Given the description of an element on the screen output the (x, y) to click on. 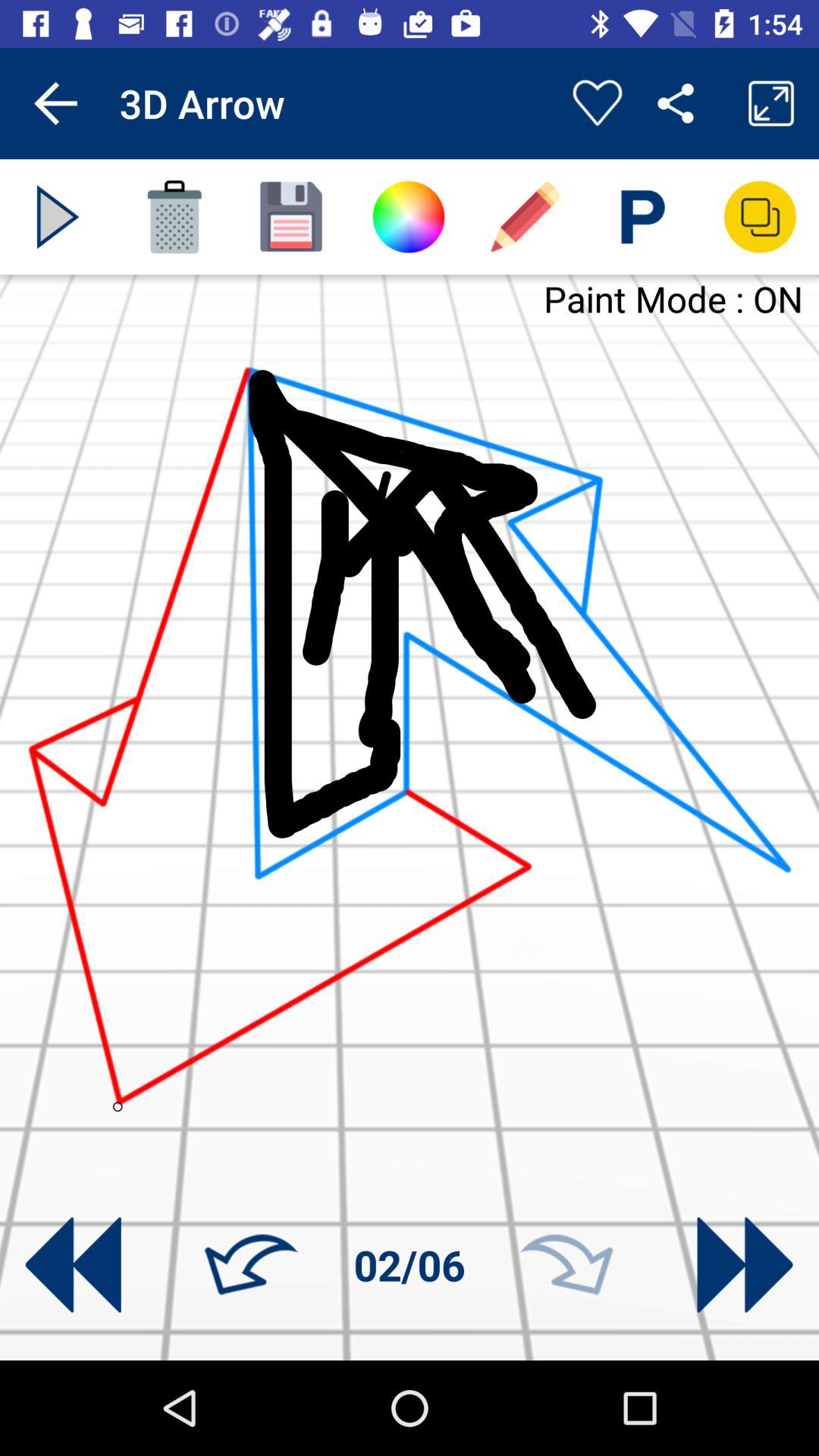
save image (291, 216)
